Given the description of an element on the screen output the (x, y) to click on. 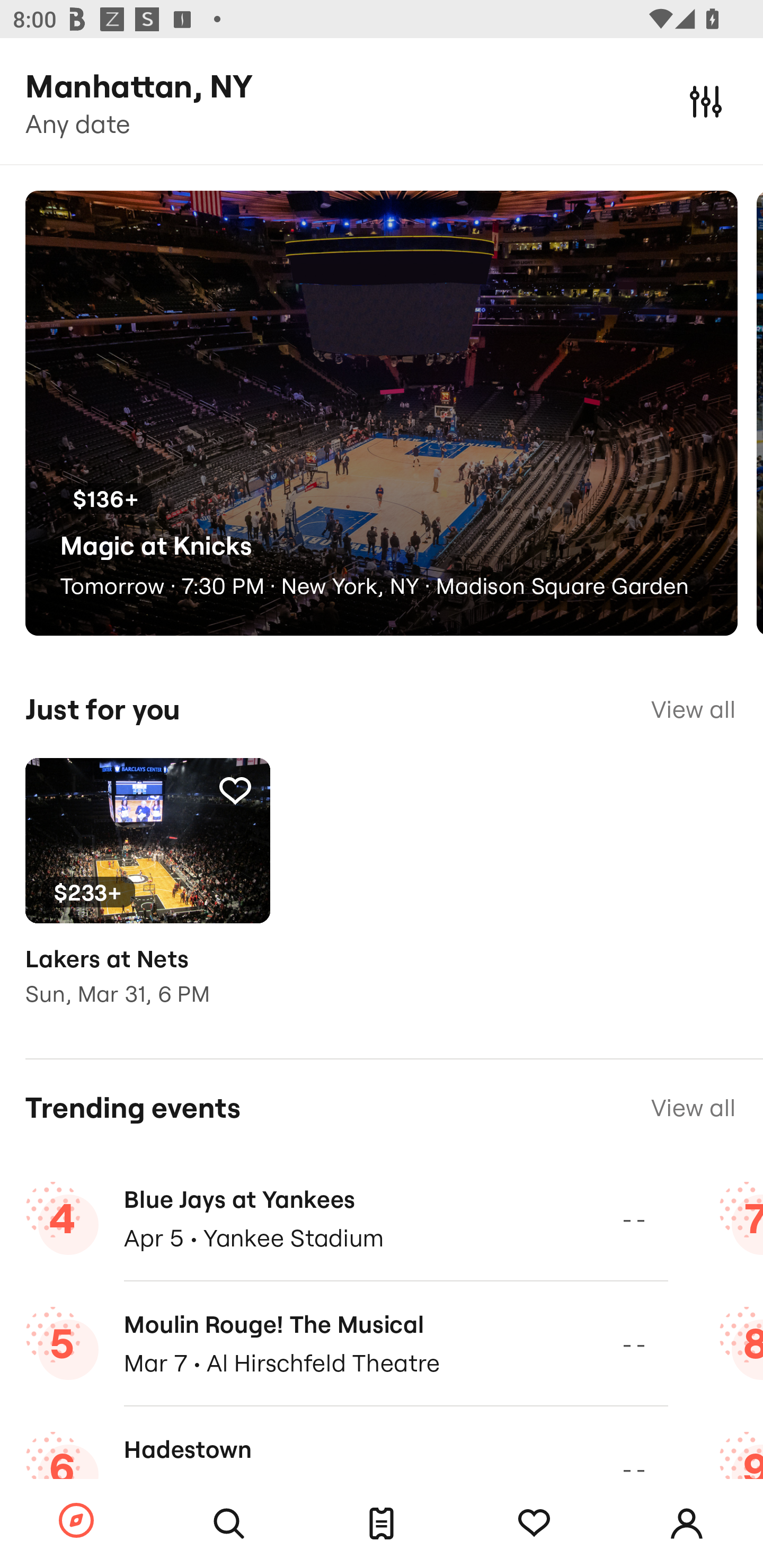
Filters (705, 100)
View all (693, 709)
Tracking $233+ Lakers at Nets Sun, Mar 31, 6 PM (147, 895)
Tracking (234, 790)
View all (693, 1108)
Browse (76, 1521)
Search (228, 1523)
Tickets (381, 1523)
Tracking (533, 1523)
Account (686, 1523)
